Given the description of an element on the screen output the (x, y) to click on. 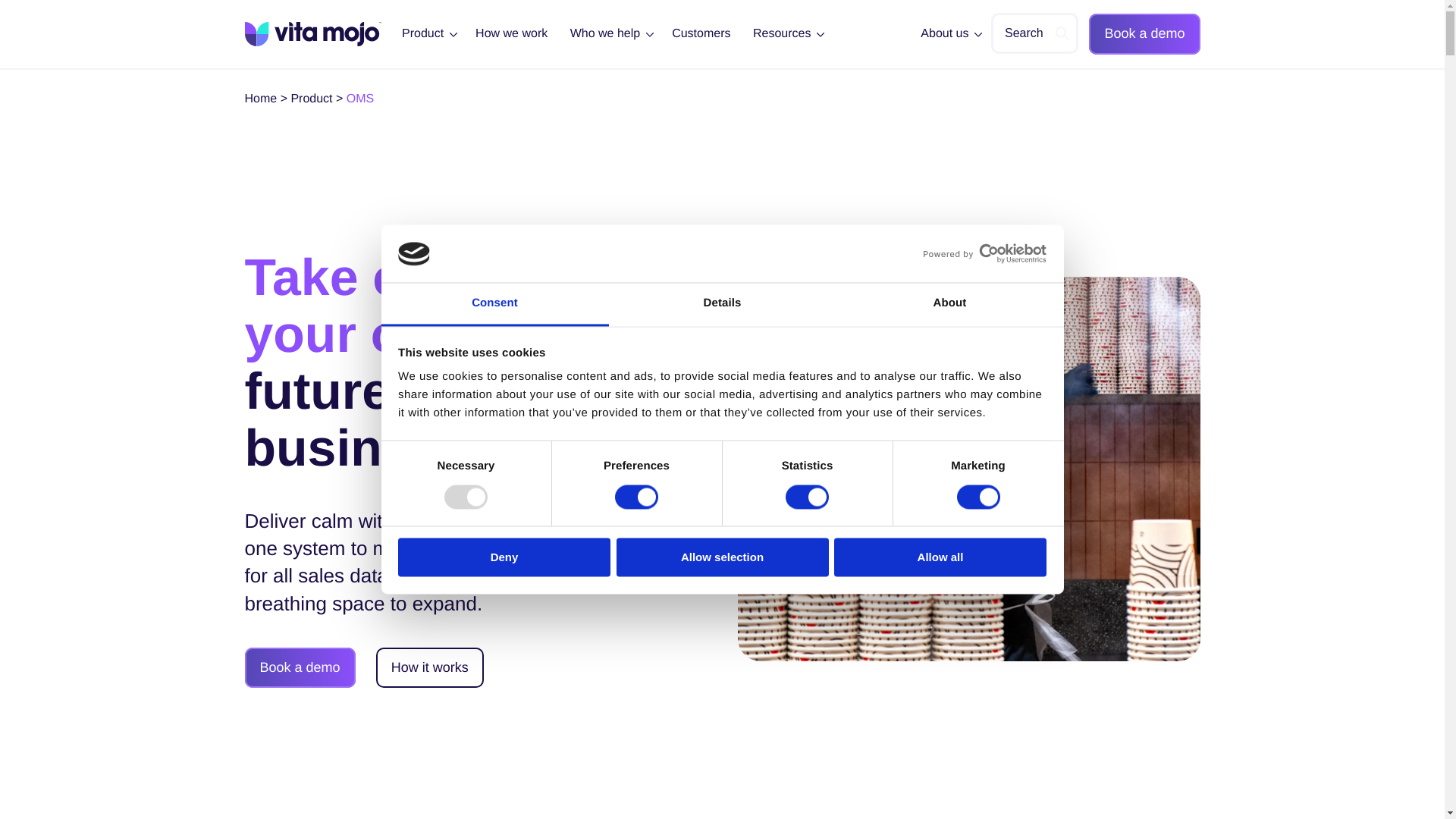
Details (721, 304)
Consent (494, 304)
About (948, 304)
